Given the description of an element on the screen output the (x, y) to click on. 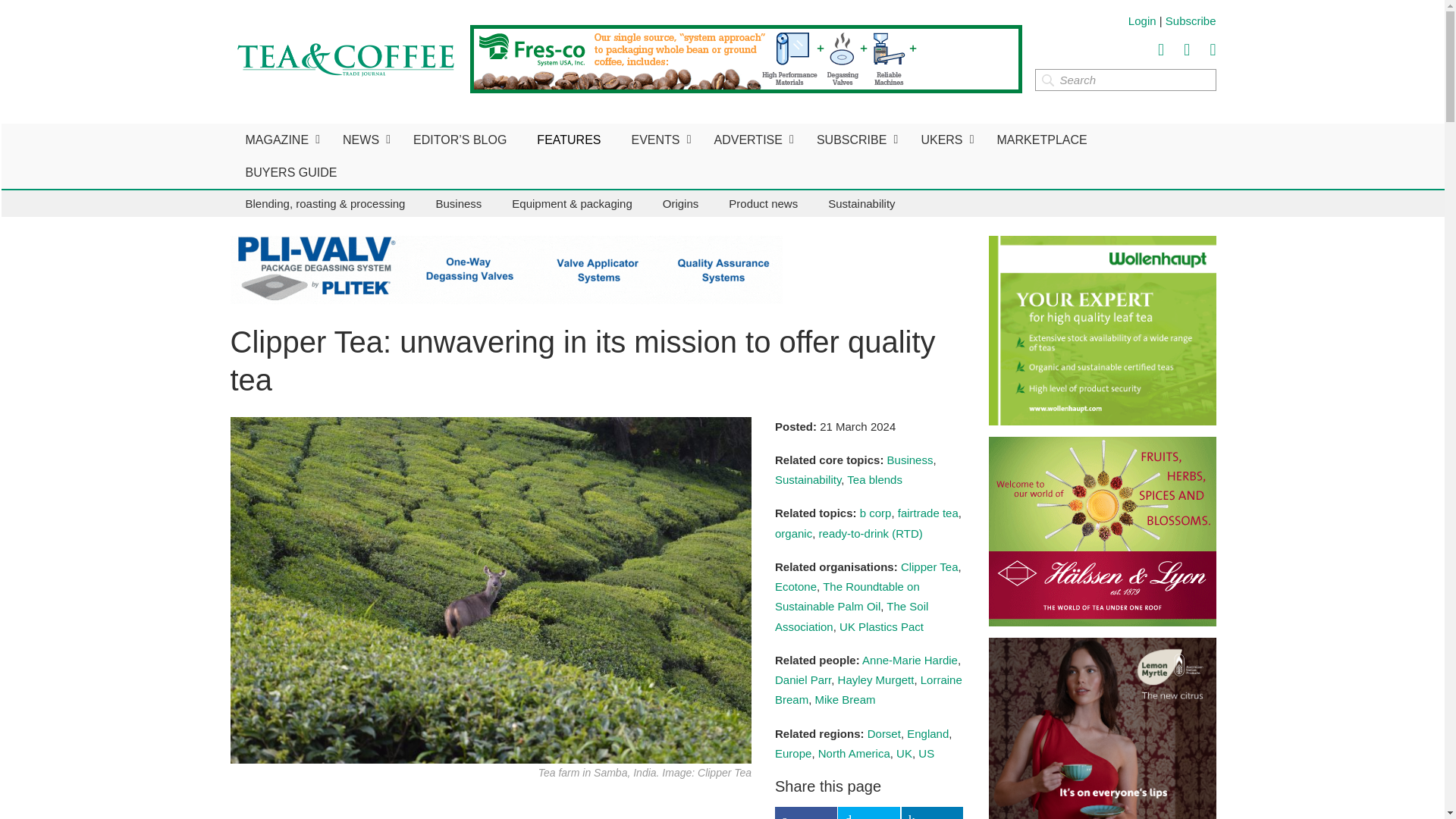
Plitek (506, 269)
ADVERTISE (750, 139)
UKERS (943, 139)
Business (458, 203)
Share on Facebook (805, 812)
Sustainability (861, 203)
MARKETPLACE (1041, 139)
Login (1142, 20)
Origins (680, 203)
Product news (762, 203)
